Given the description of an element on the screen output the (x, y) to click on. 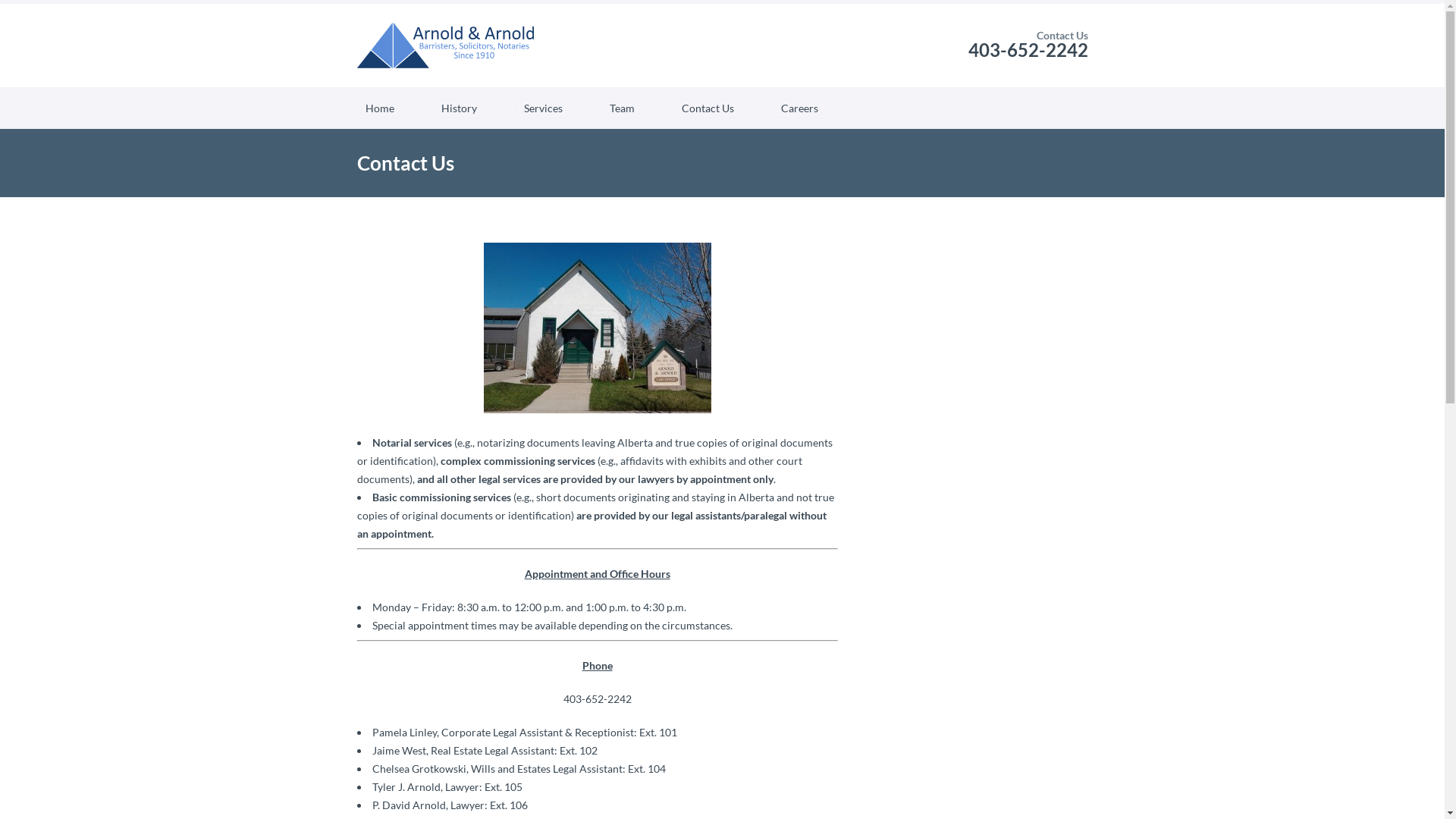
Arnold & Arnold Element type: hover (444, 45)
Team Element type: text (621, 108)
Home Element type: text (378, 108)
History Element type: text (458, 108)
Contact Us Element type: text (707, 108)
403-652-2242 Element type: text (1027, 49)
Services Element type: text (543, 108)
Careers Element type: text (798, 108)
